Given the description of an element on the screen output the (x, y) to click on. 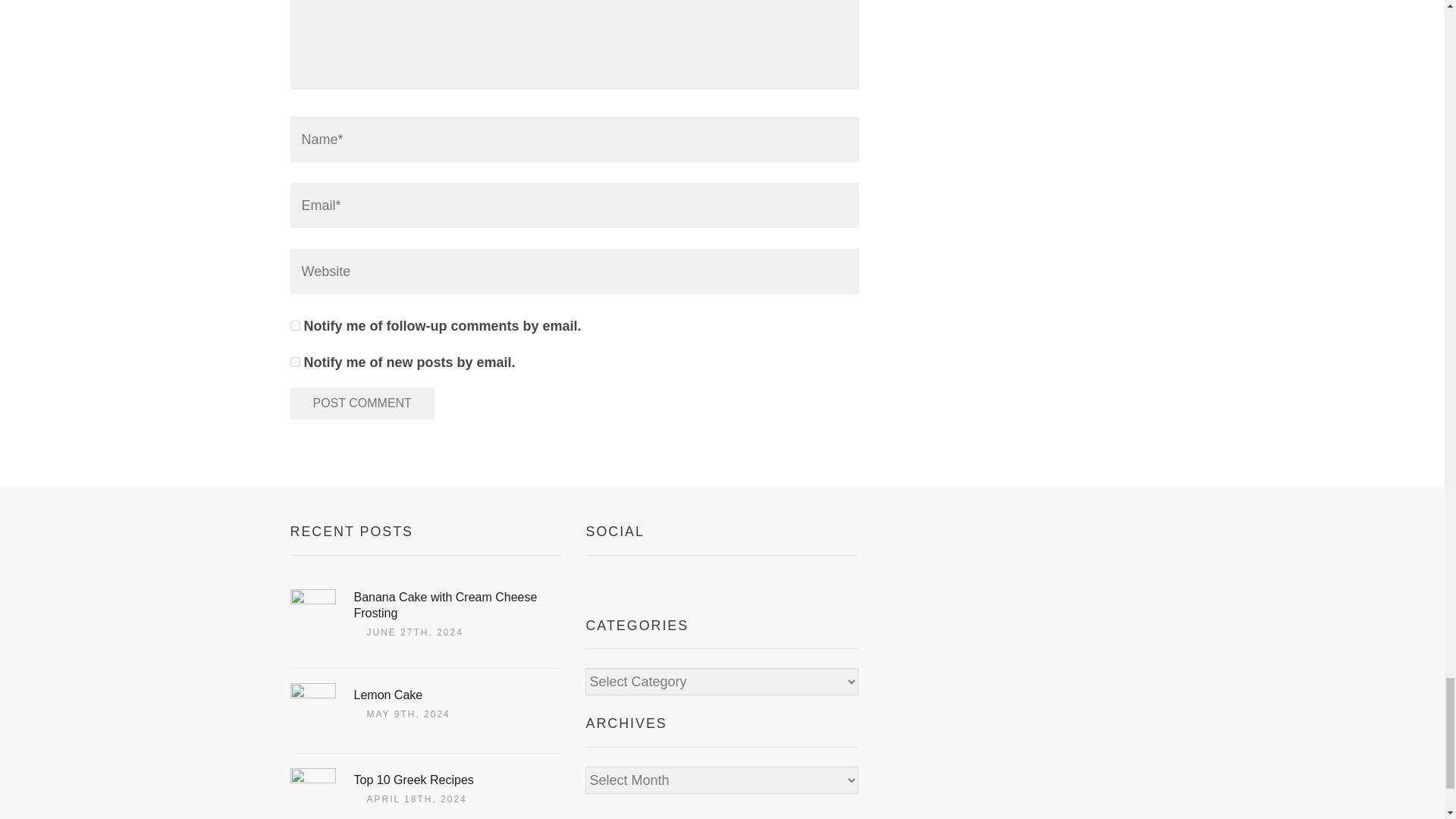
subscribe (294, 325)
Post Comment (361, 403)
subscribe (294, 361)
